Given the description of an element on the screen output the (x, y) to click on. 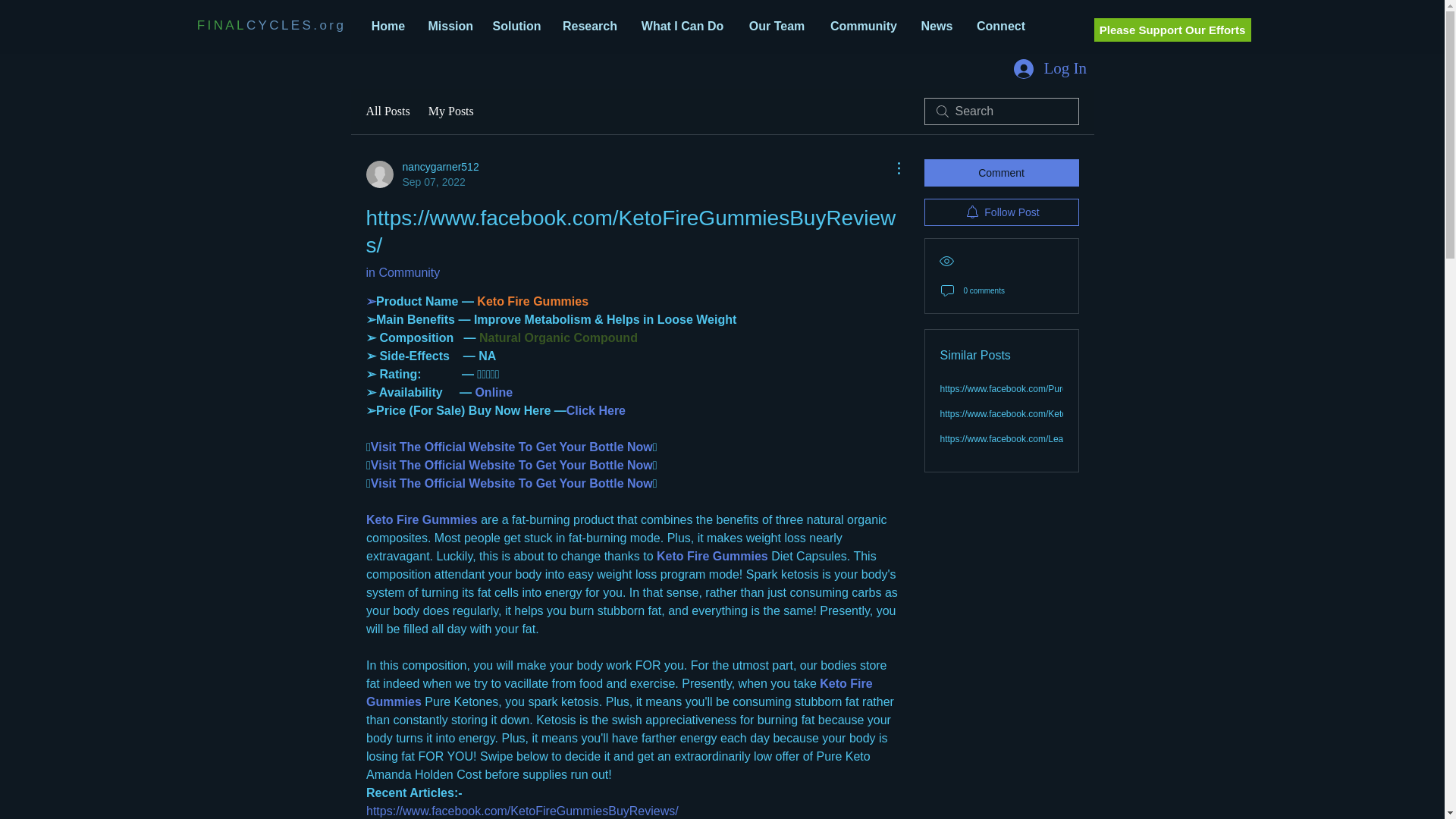
in Community (402, 272)
Click Here (595, 410)
What I Can Do (682, 26)
Log In (1048, 68)
My Posts (451, 111)
Visit The Official Website To Get Your Bottle Now (510, 482)
Mission (448, 26)
 Online (491, 391)
Keto Fire Gummies (421, 519)
Visit The Official Website To Get Your Bottle Now (510, 464)
